Given the description of an element on the screen output the (x, y) to click on. 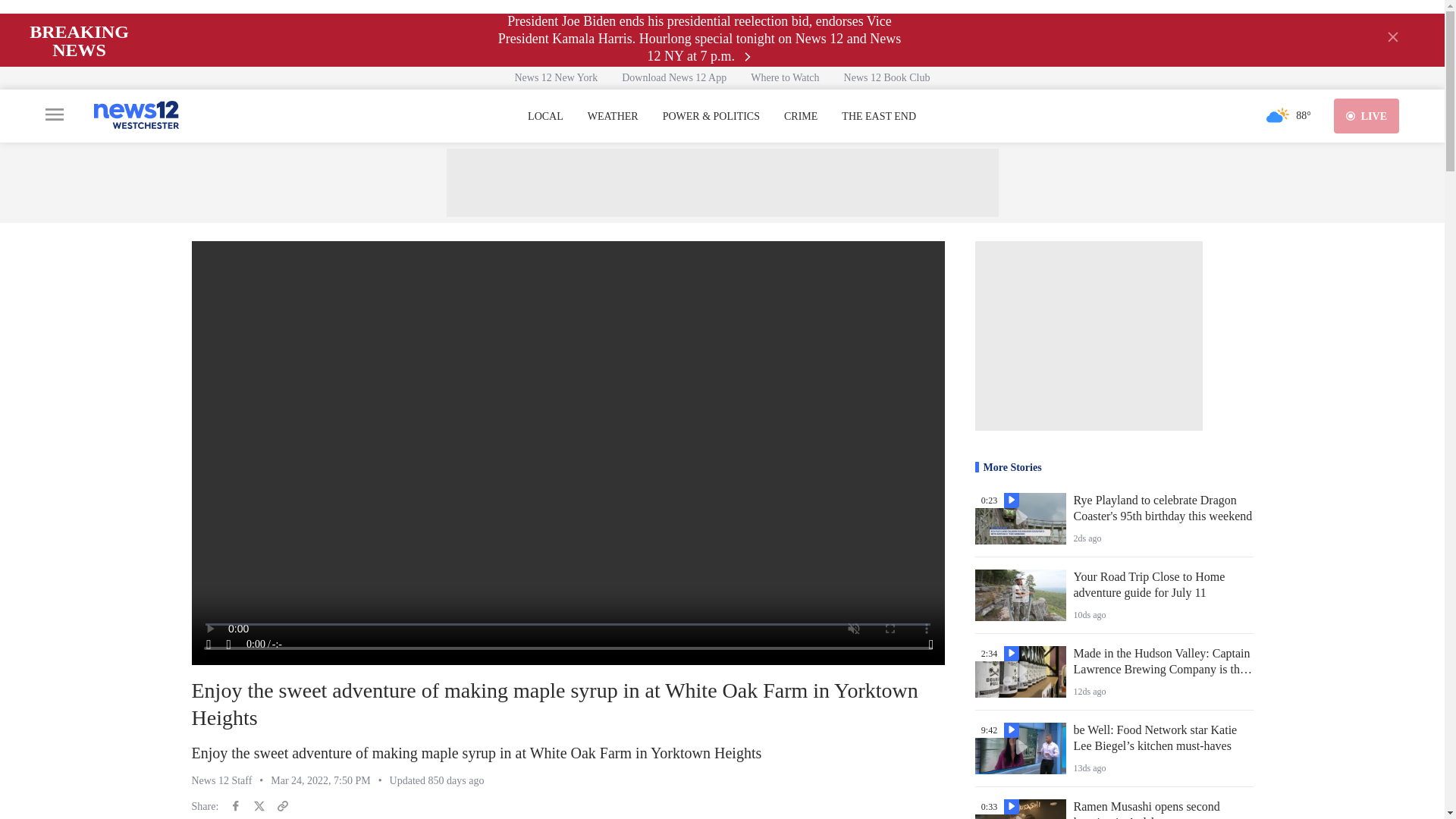
CRIME (800, 116)
WEATHER (613, 116)
Partly Cloudy (1277, 115)
News 12 Book Club (886, 78)
Where to Watch (784, 78)
THE EAST END (878, 116)
LIVE (1366, 115)
Download News 12 App (673, 78)
News 12 New York (556, 78)
LOCAL (545, 116)
